Given the description of an element on the screen output the (x, y) to click on. 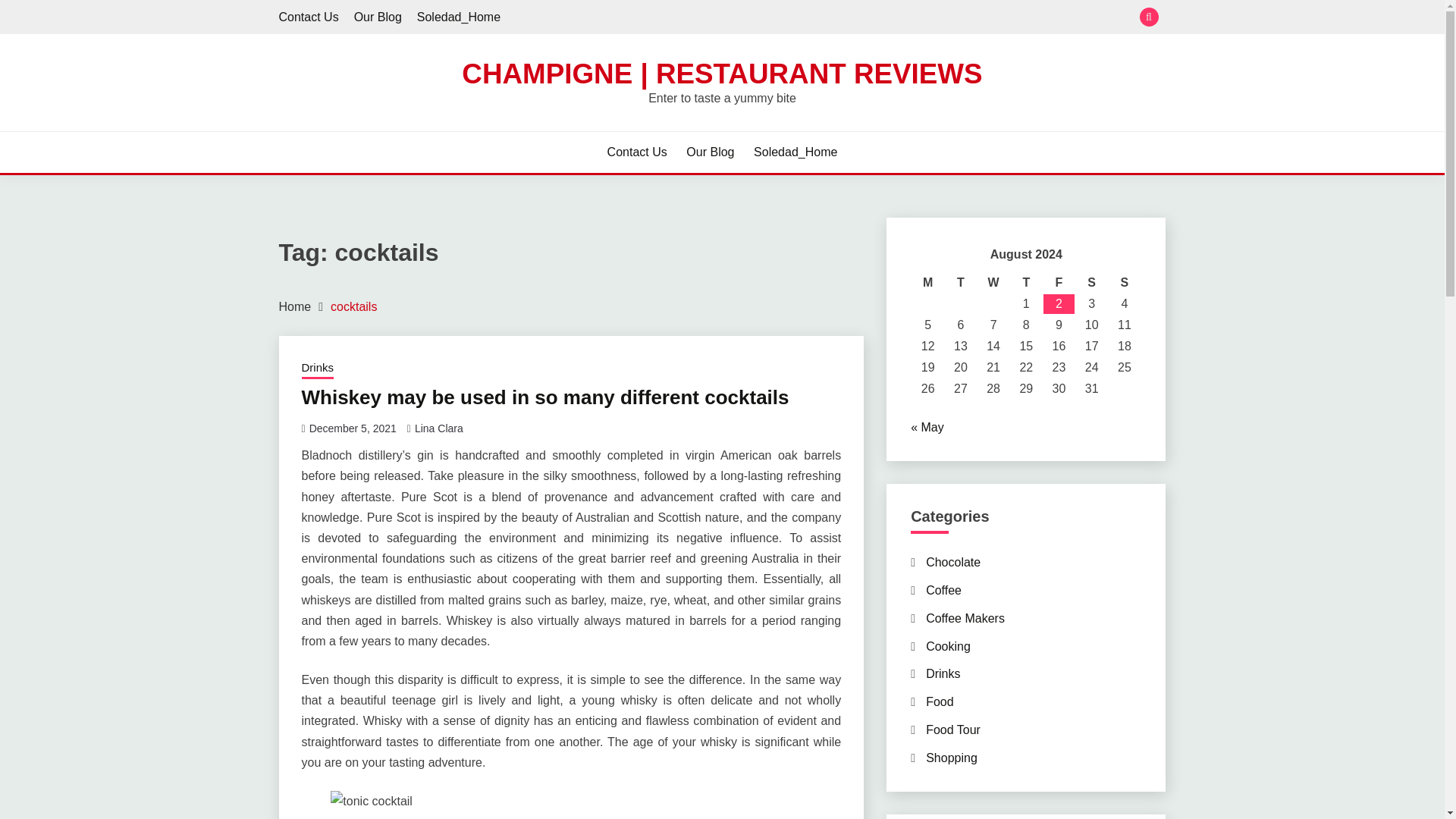
Lina Clara (438, 428)
Tuesday (959, 282)
Food Tour (952, 729)
Food (939, 701)
Saturday (1090, 282)
Our Blog (377, 16)
Friday (1058, 282)
Wednesday (993, 282)
Search (832, 18)
Our Blog (709, 152)
Cooking (948, 645)
Home (295, 306)
Coffee (943, 590)
Drinks (942, 673)
Sunday (1124, 282)
